Given the description of an element on the screen output the (x, y) to click on. 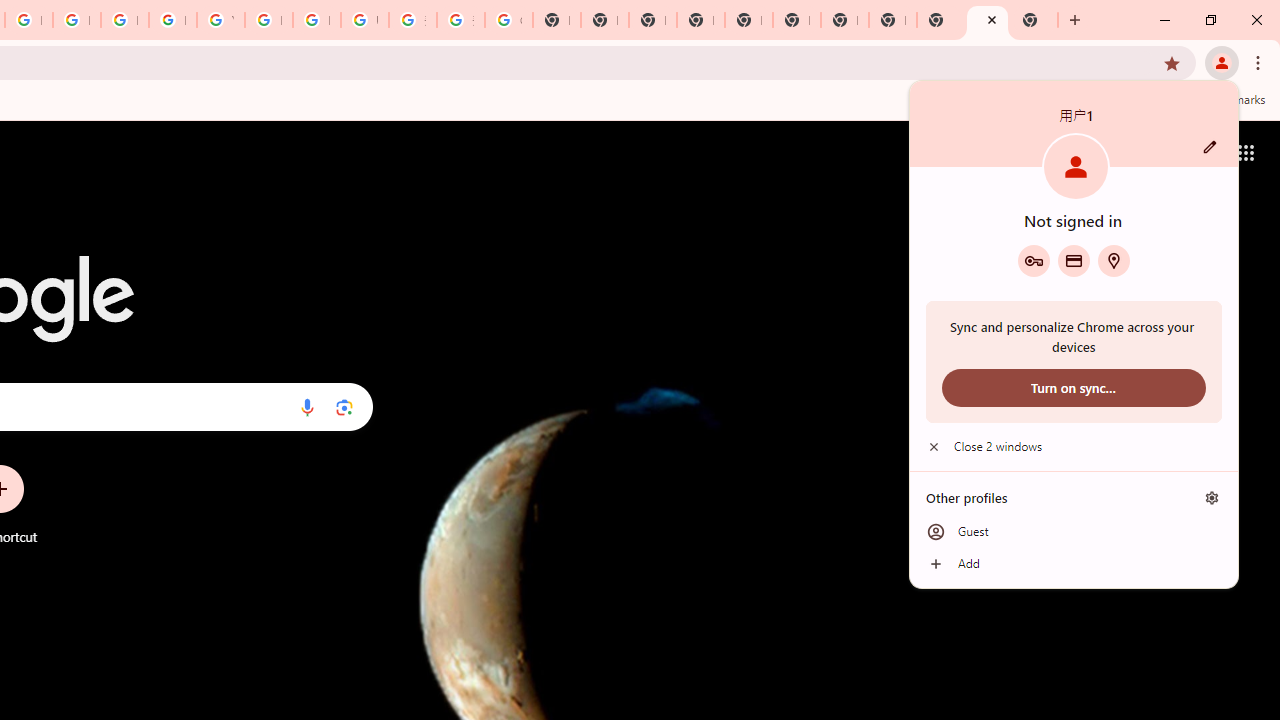
Customize profile (1210, 147)
Close 2 windows (1073, 446)
Guest (1073, 531)
Addresses and more (1114, 260)
Google Images (508, 20)
YouTube (220, 20)
Payment methods (1074, 260)
